Given the description of an element on the screen output the (x, y) to click on. 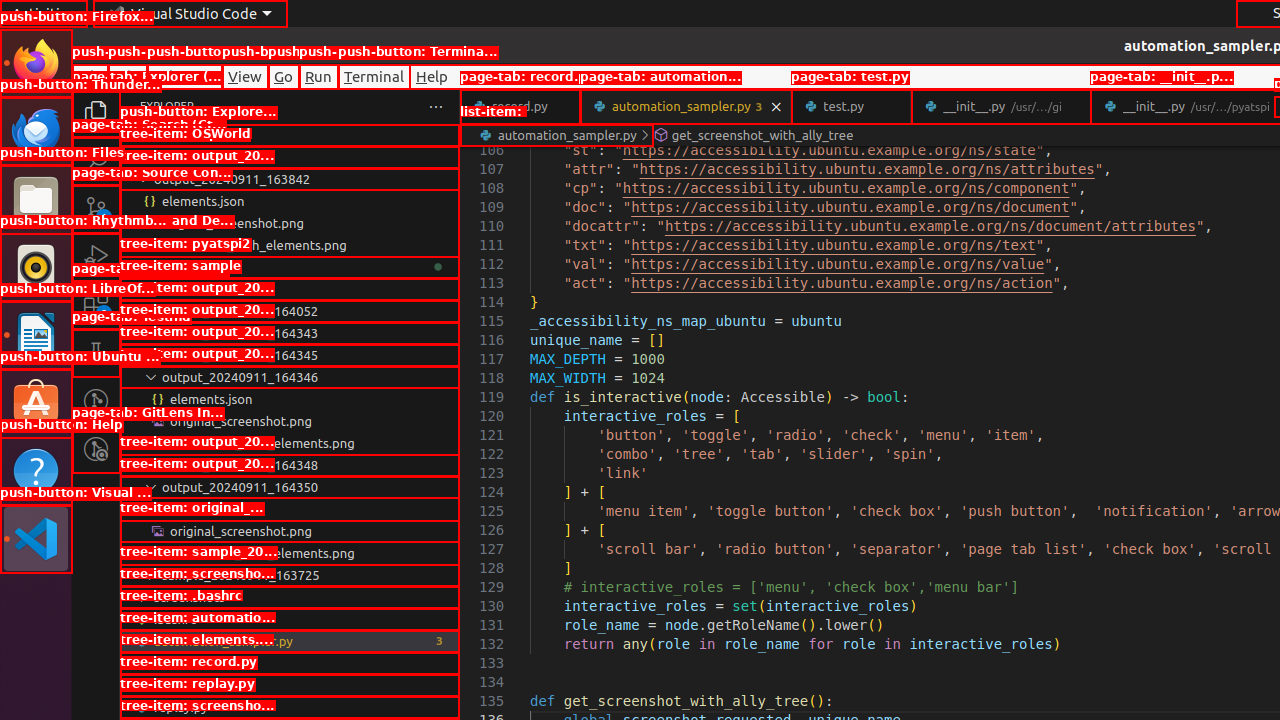
output_20240911_164343 Element type: tree-item (289, 333)
output_20240911_164348 Element type: tree-item (289, 465)
test.py Element type: page-tab (851, 106)
record.py Element type: tree-item (289, 685)
